Given the description of an element on the screen output the (x, y) to click on. 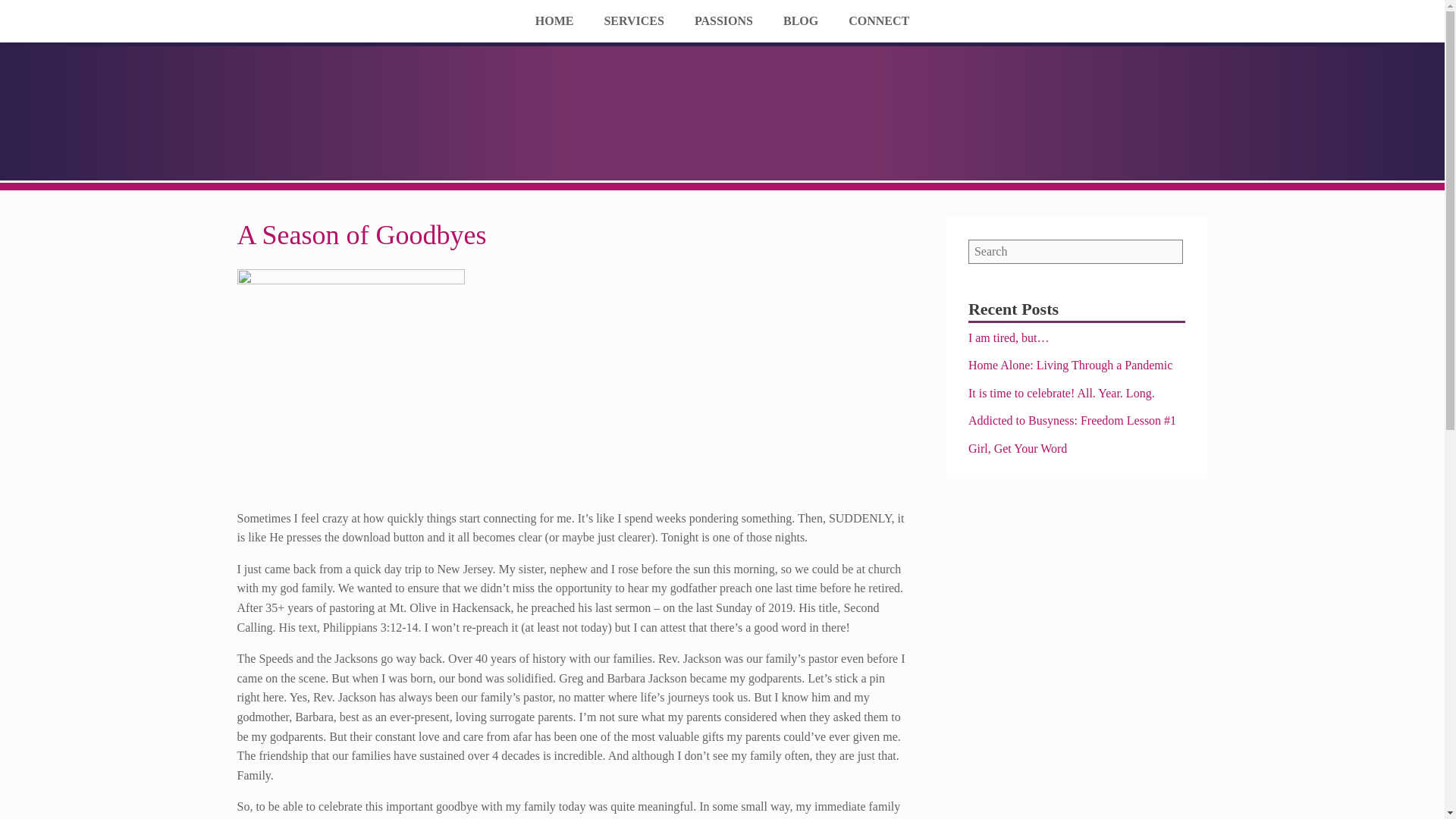
BLOG (800, 22)
Girl, Get Your Word (1017, 447)
It is time to celebrate! All. Year. Long. (1061, 392)
HOME (554, 22)
SERVICES (633, 22)
Home Alone: Living Through a Pandemic (1070, 364)
PASSIONS (723, 22)
CONNECT (878, 22)
